Given the description of an element on the screen output the (x, y) to click on. 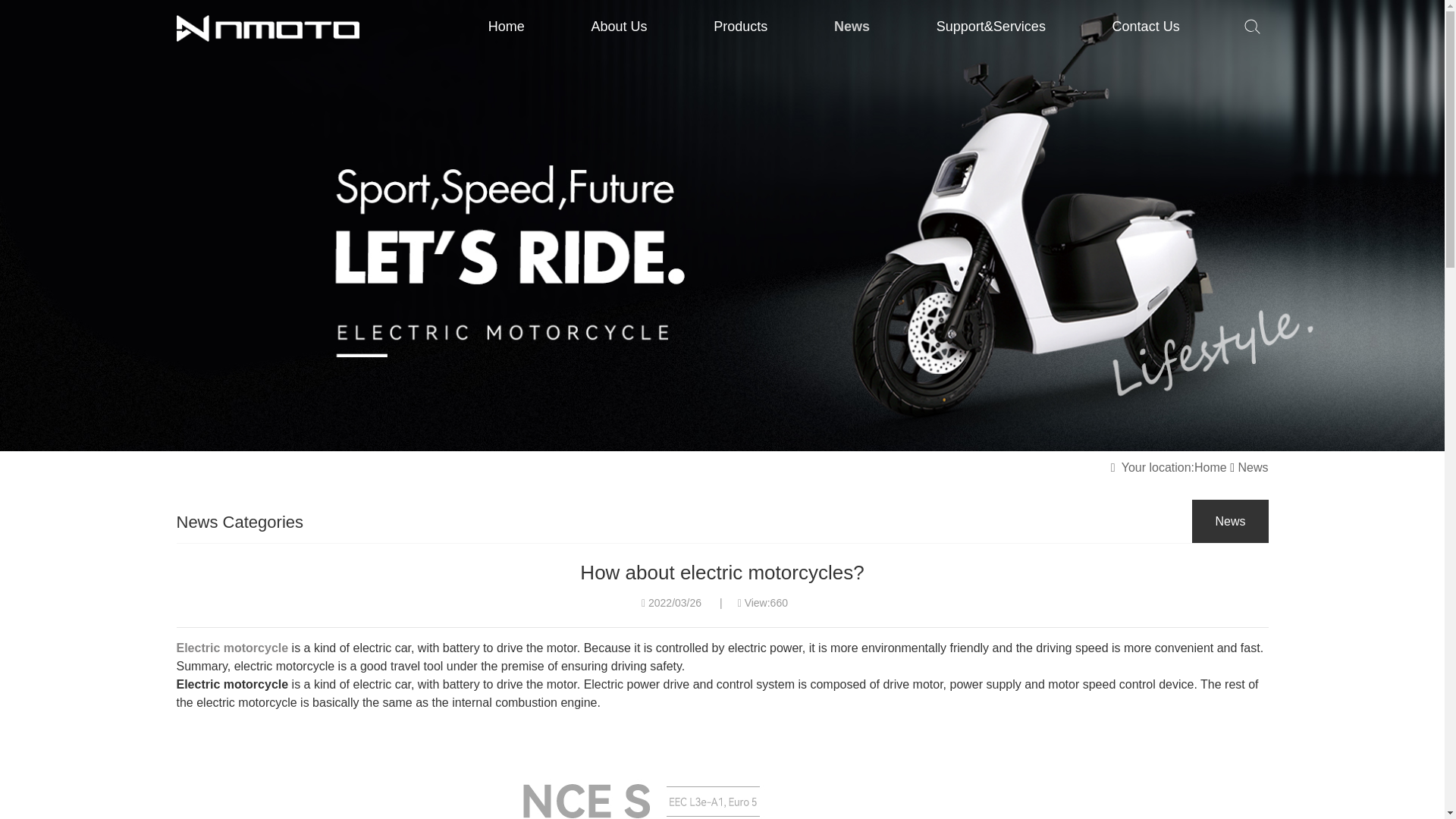
electric motorcycle  (722, 774)
About Us (619, 26)
Products (740, 26)
Jiangsu Lvneng Electrical Bicycle Technology Co., Ltd. (267, 28)
Home (506, 26)
News (851, 26)
Contact Us (1145, 26)
